Given the description of an element on the screen output the (x, y) to click on. 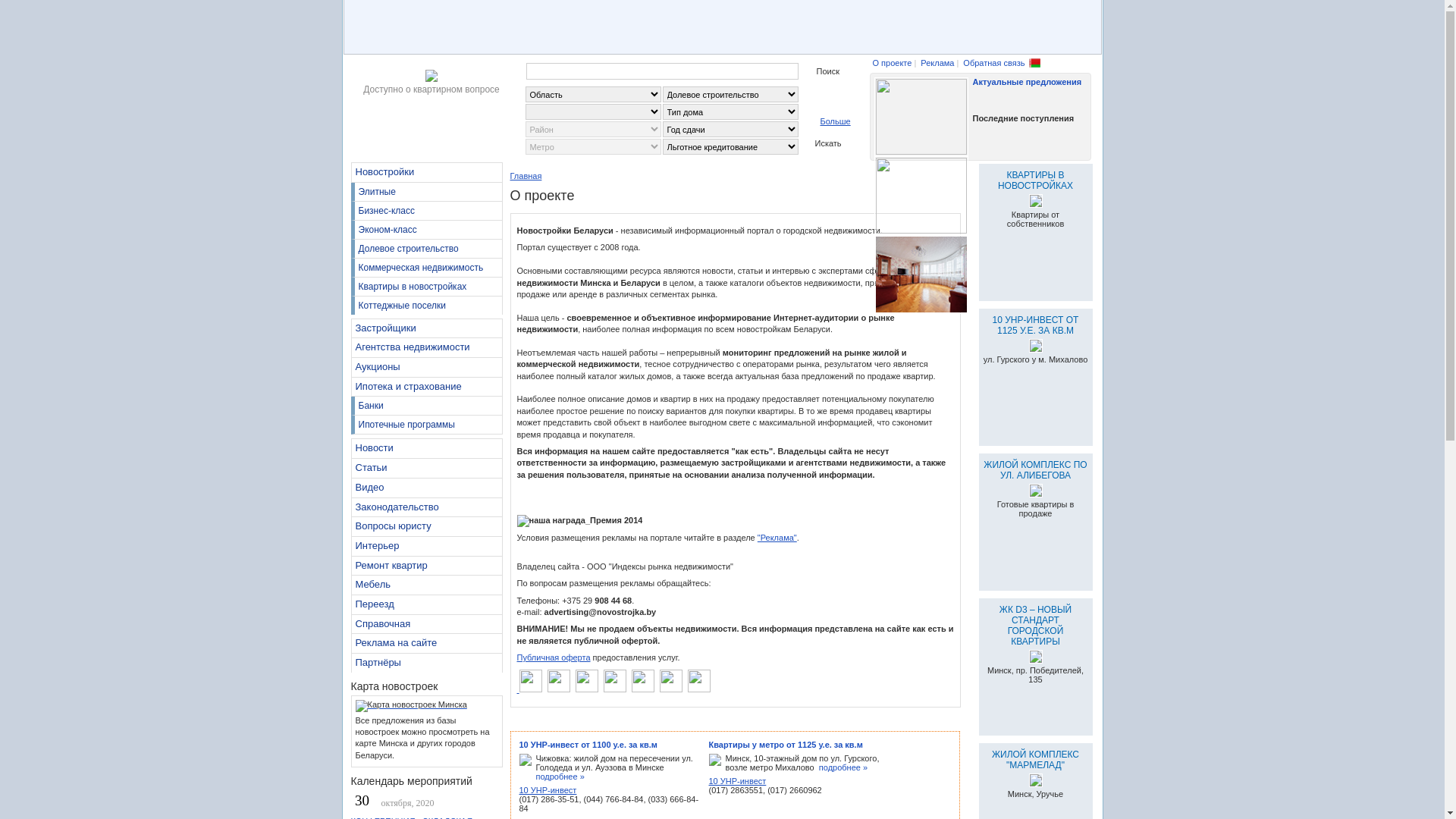
  Element type: text (939, 201)
  Element type: text (518, 688)
